Given the description of an element on the screen output the (x, y) to click on. 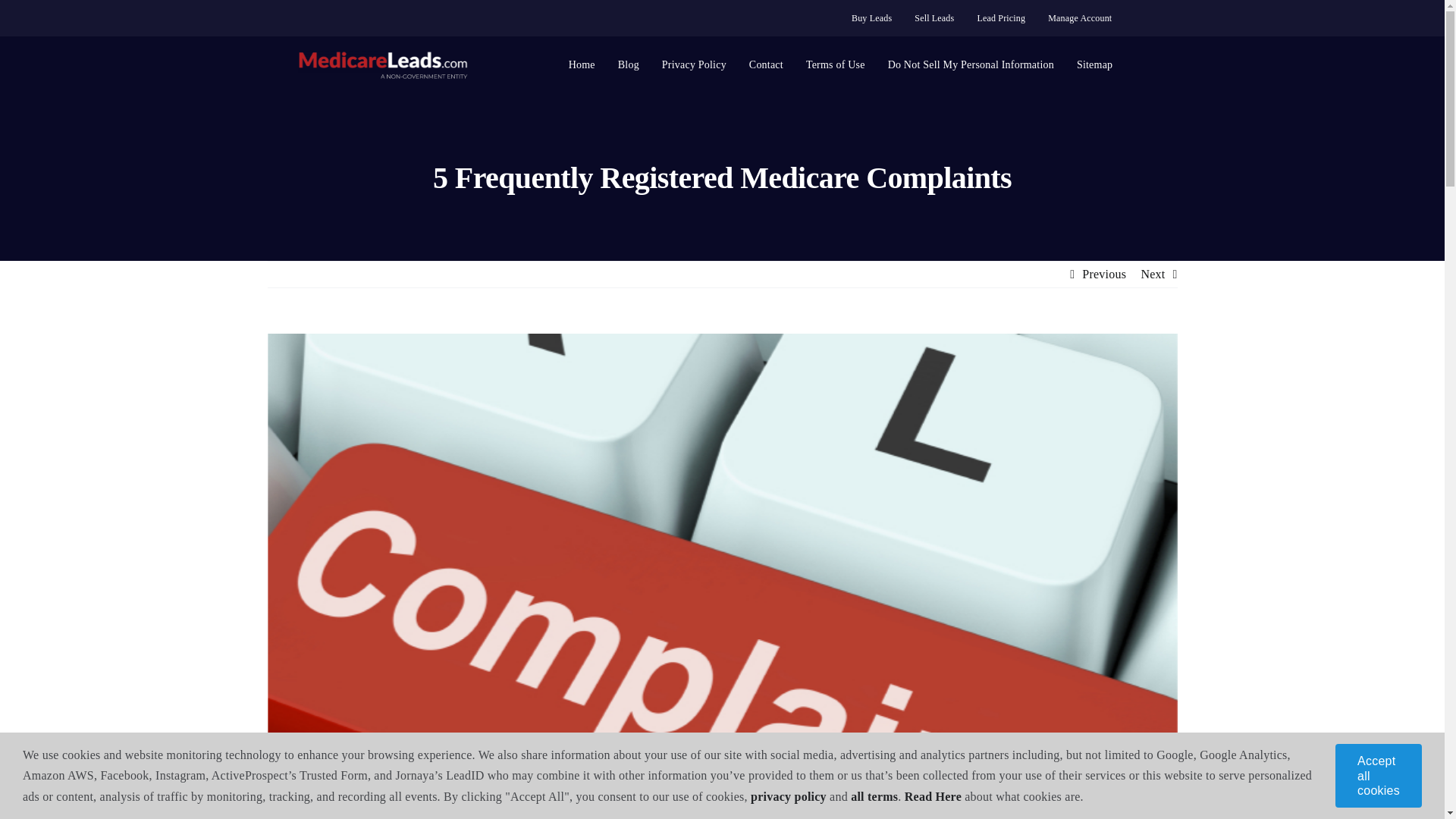
Sitemap (1094, 64)
Home (582, 64)
Sell Leads (933, 18)
Do Not Sell My Personal Information (970, 64)
Manage Account (1079, 18)
Terms of Use (835, 64)
Privacy Policy (694, 64)
Buy Leads (871, 18)
Next (1152, 274)
Previous (1103, 274)
Contact (766, 64)
Blog (628, 64)
Lead Pricing (1000, 18)
